Given the description of an element on the screen output the (x, y) to click on. 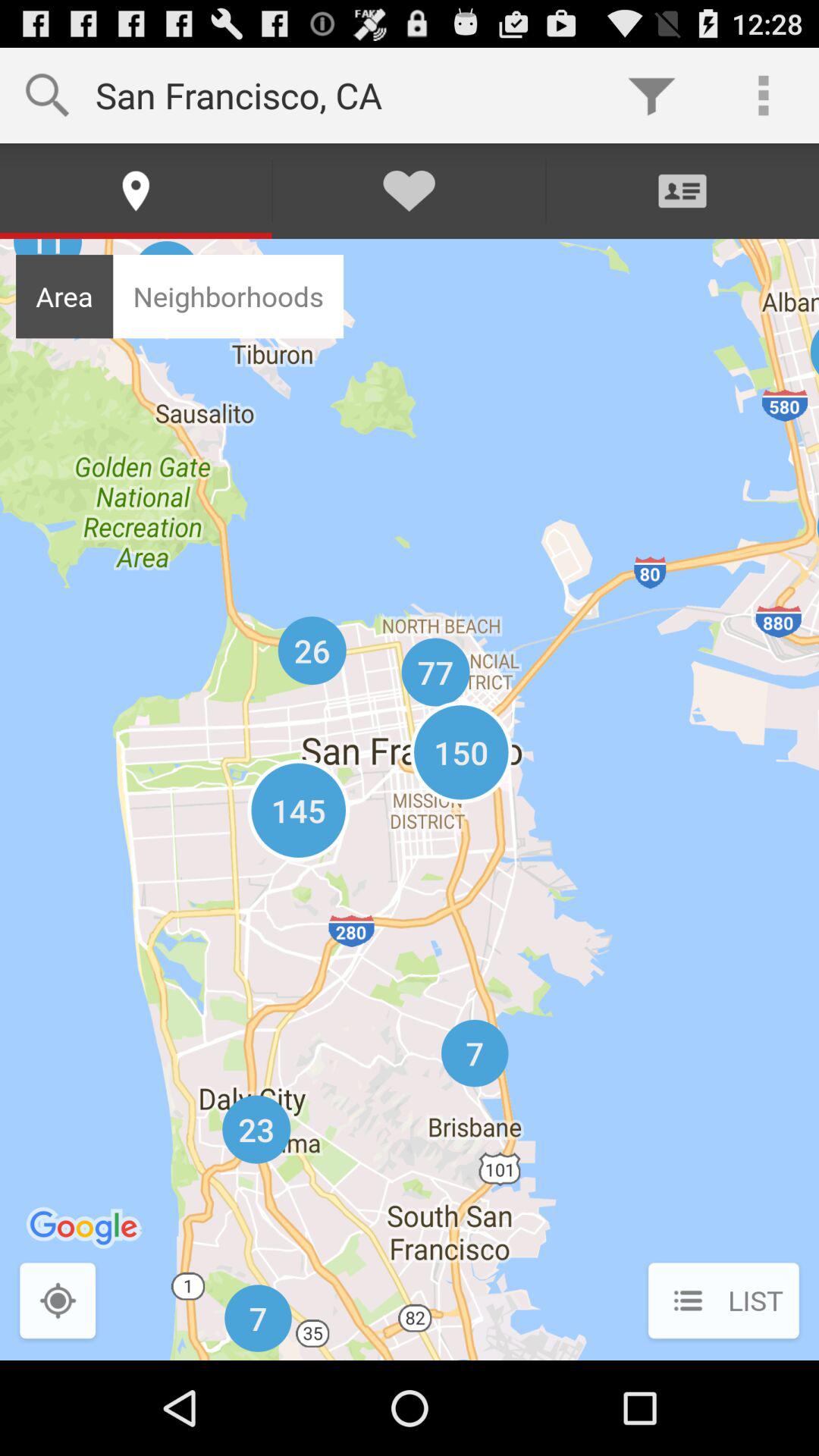
turn off app to the right of san francisco, ca item (651, 95)
